Given the description of an element on the screen output the (x, y) to click on. 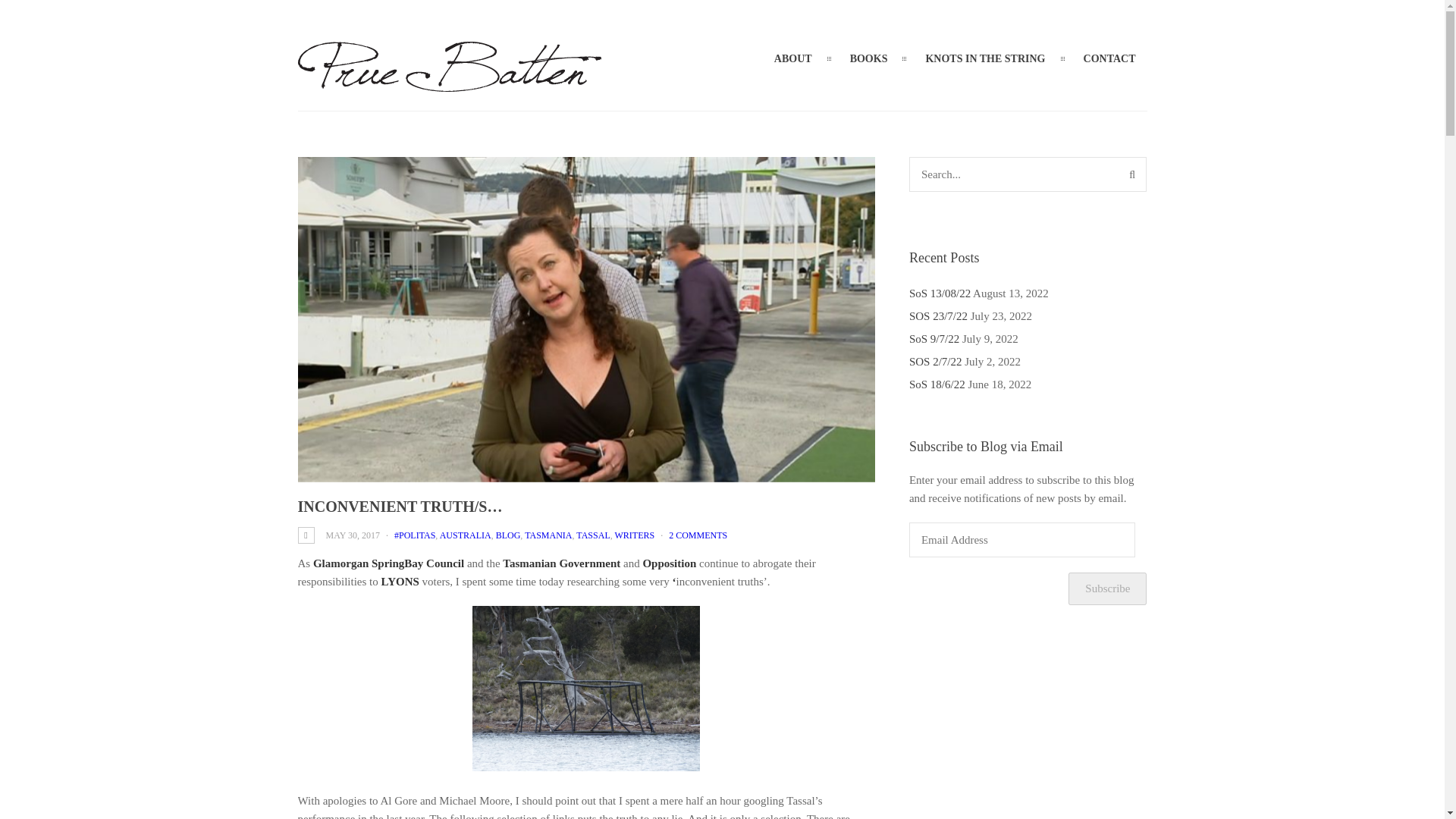
ABOUT (793, 58)
Subscribe (1107, 588)
2 COMMENTS (697, 534)
Prue Batten (448, 82)
TASSAL (593, 534)
CONTACT (1109, 58)
WRITERS (634, 534)
KNOTS IN THE STRING (985, 58)
BOOKS (868, 58)
BLOG (508, 534)
TASMANIA (548, 534)
AUSTRALIA (465, 534)
